Given the description of an element on the screen output the (x, y) to click on. 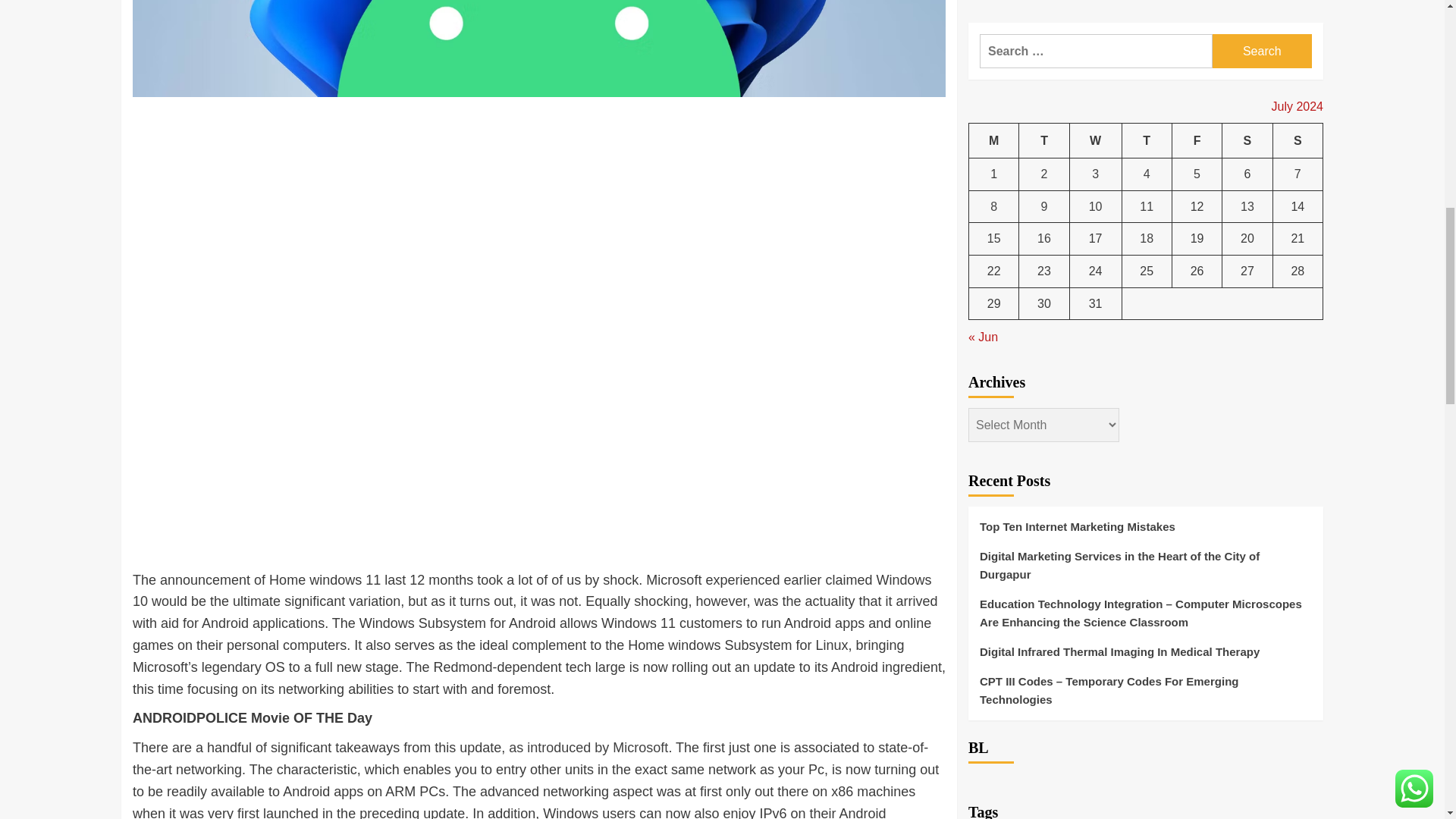
as introduced by Microsoft (588, 747)
